Given the description of an element on the screen output the (x, y) to click on. 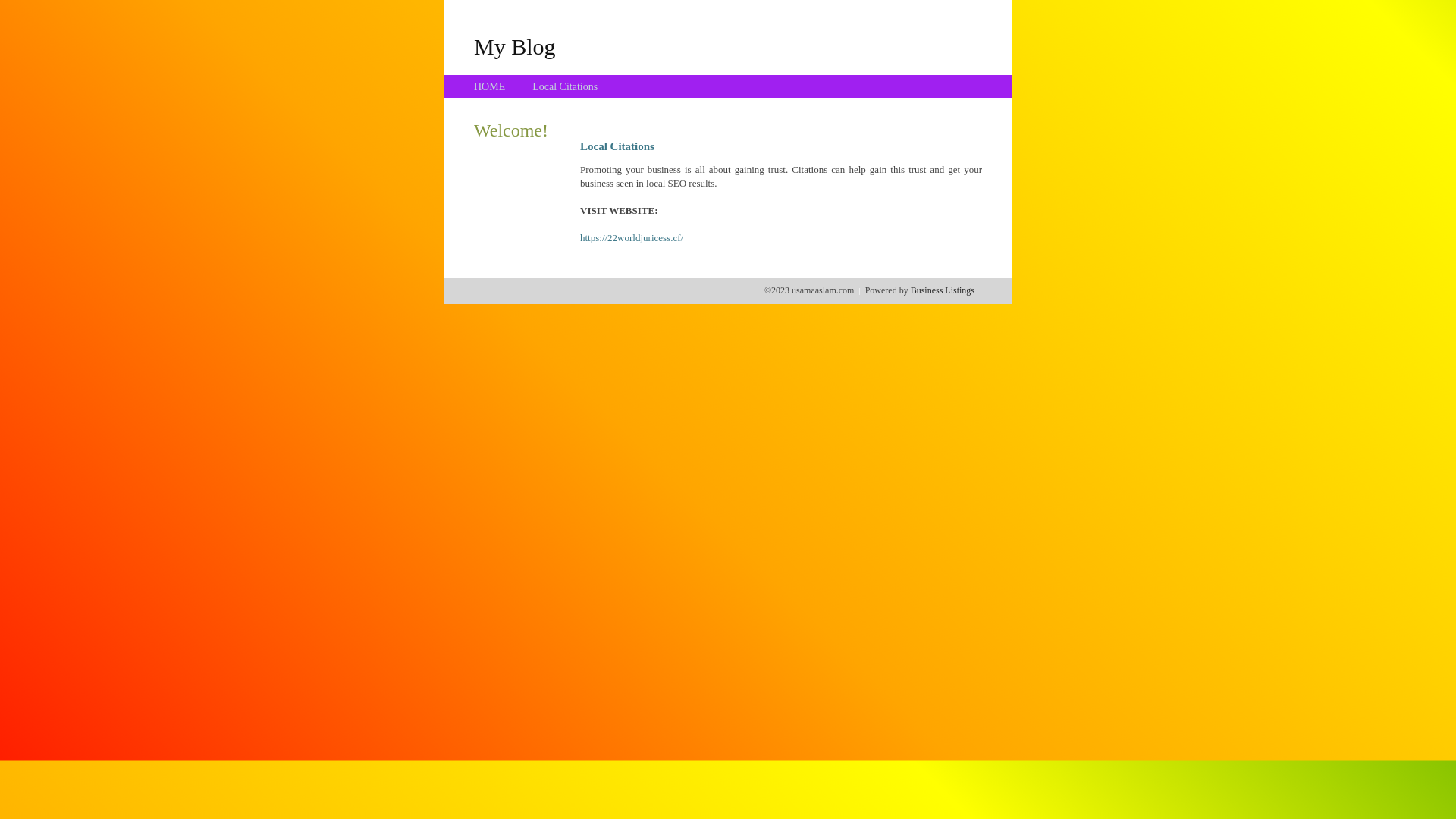
Local Citations Element type: text (564, 86)
HOME Element type: text (489, 86)
My Blog Element type: text (514, 46)
https://22worldjuricess.cf/ Element type: text (631, 237)
Business Listings Element type: text (942, 290)
